Given the description of an element on the screen output the (x, y) to click on. 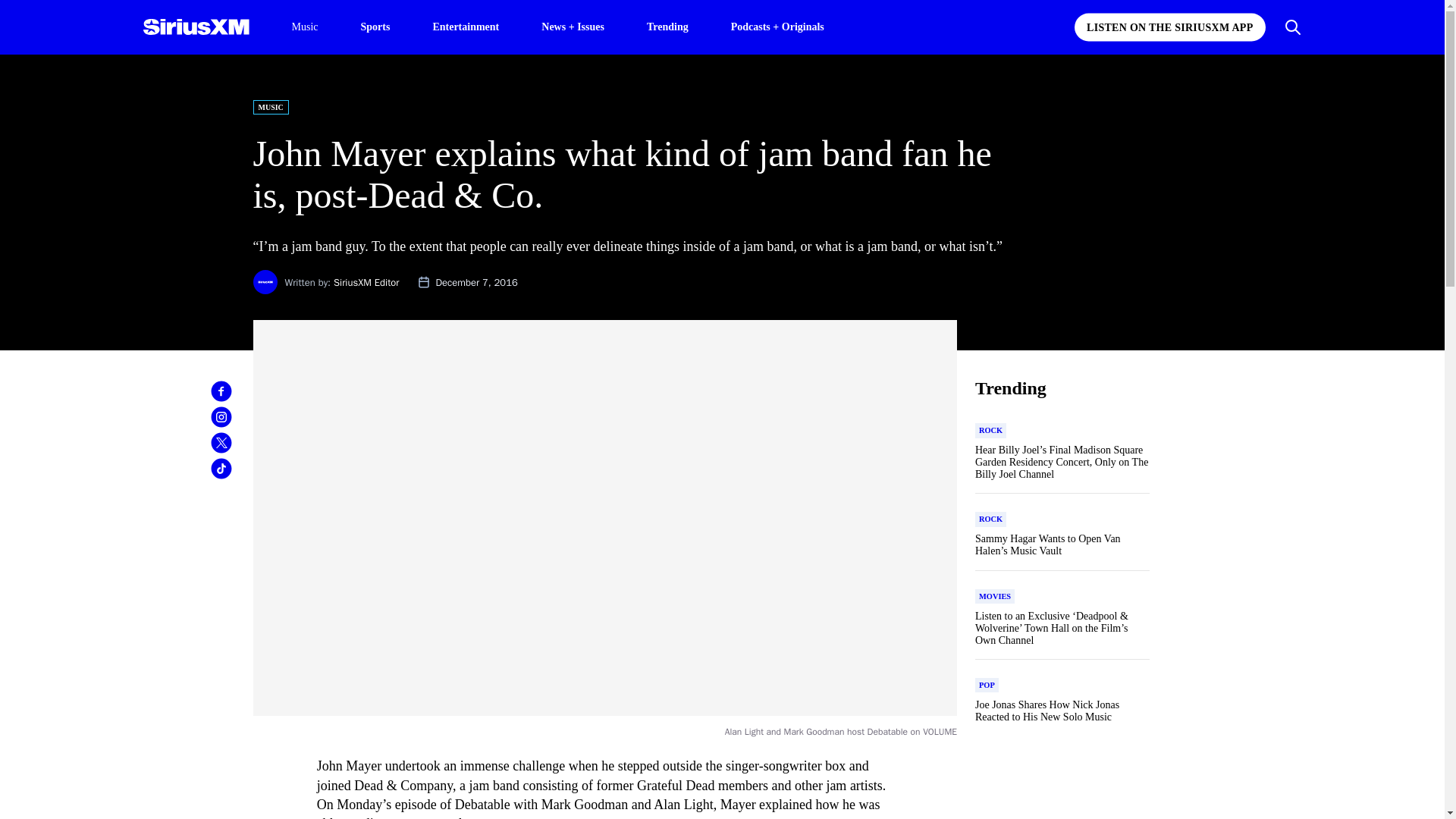
Trending (667, 26)
Entertainment (465, 26)
LISTEN ON THE SIRIUSXM APP (1169, 27)
SiriusXM Editor (365, 282)
Music (304, 26)
MUSIC (270, 106)
Sports (375, 26)
